Given the description of an element on the screen output the (x, y) to click on. 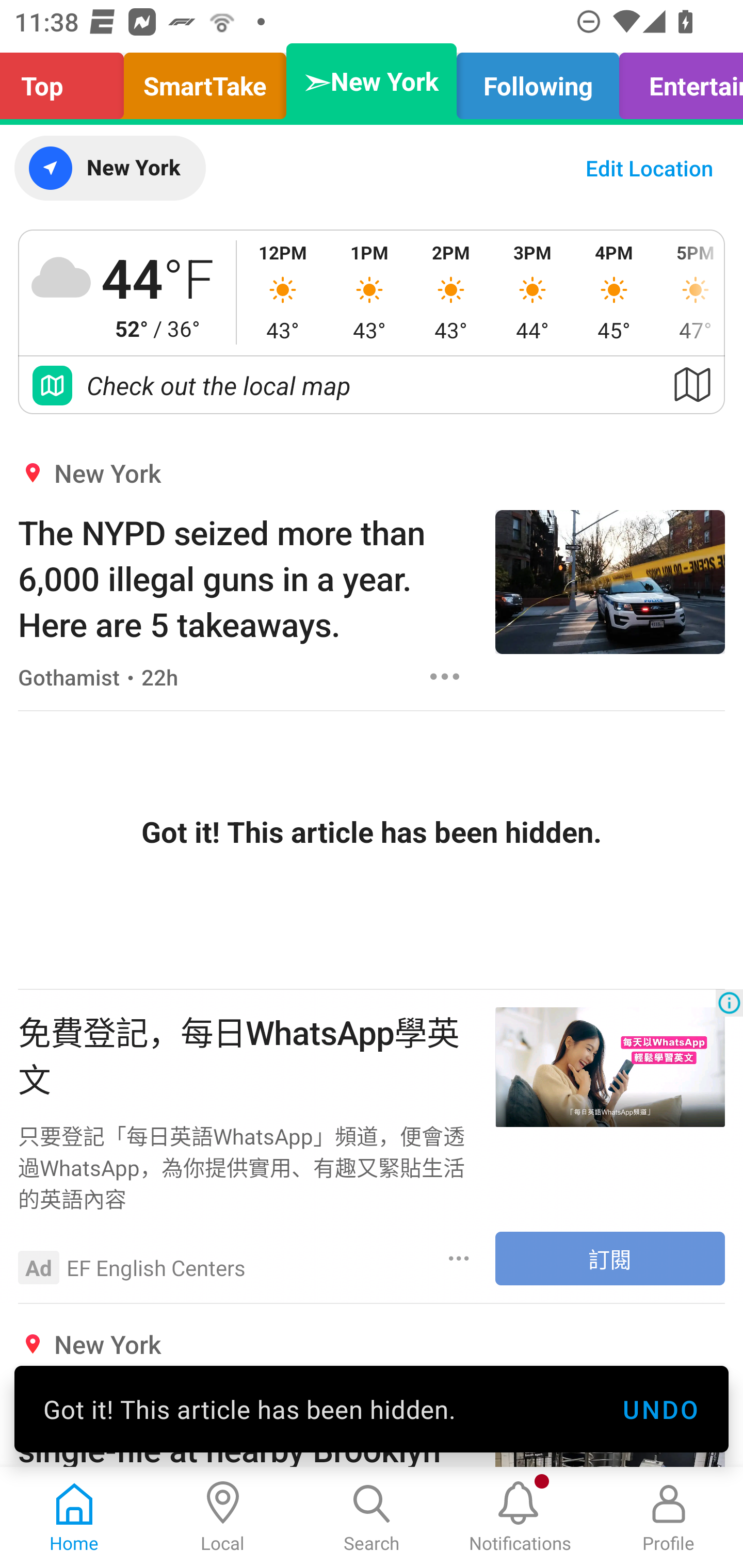
Top (67, 81)
SmartTake (204, 81)
➣New York (371, 81)
Following (537, 81)
New York (109, 168)
Edit Location (648, 168)
12PM 43° (282, 291)
1PM 43° (369, 291)
2PM 43° (450, 291)
3PM 44° (532, 291)
4PM 45° (613, 291)
5PM 47° (689, 291)
Check out the local map (371, 384)
Options (444, 676)
Options (444, 954)
Ad Choices Icon (729, 1002)
免費登記，每日WhatsApp學英文 (247, 1053)
訂閱 (610, 1258)
Options (459, 1258)
EF English Centers (155, 1267)
UNDO (660, 1408)
Local (222, 1517)
Search (371, 1517)
Notifications, New notification Notifications (519, 1517)
Profile (668, 1517)
